Given the description of an element on the screen output the (x, y) to click on. 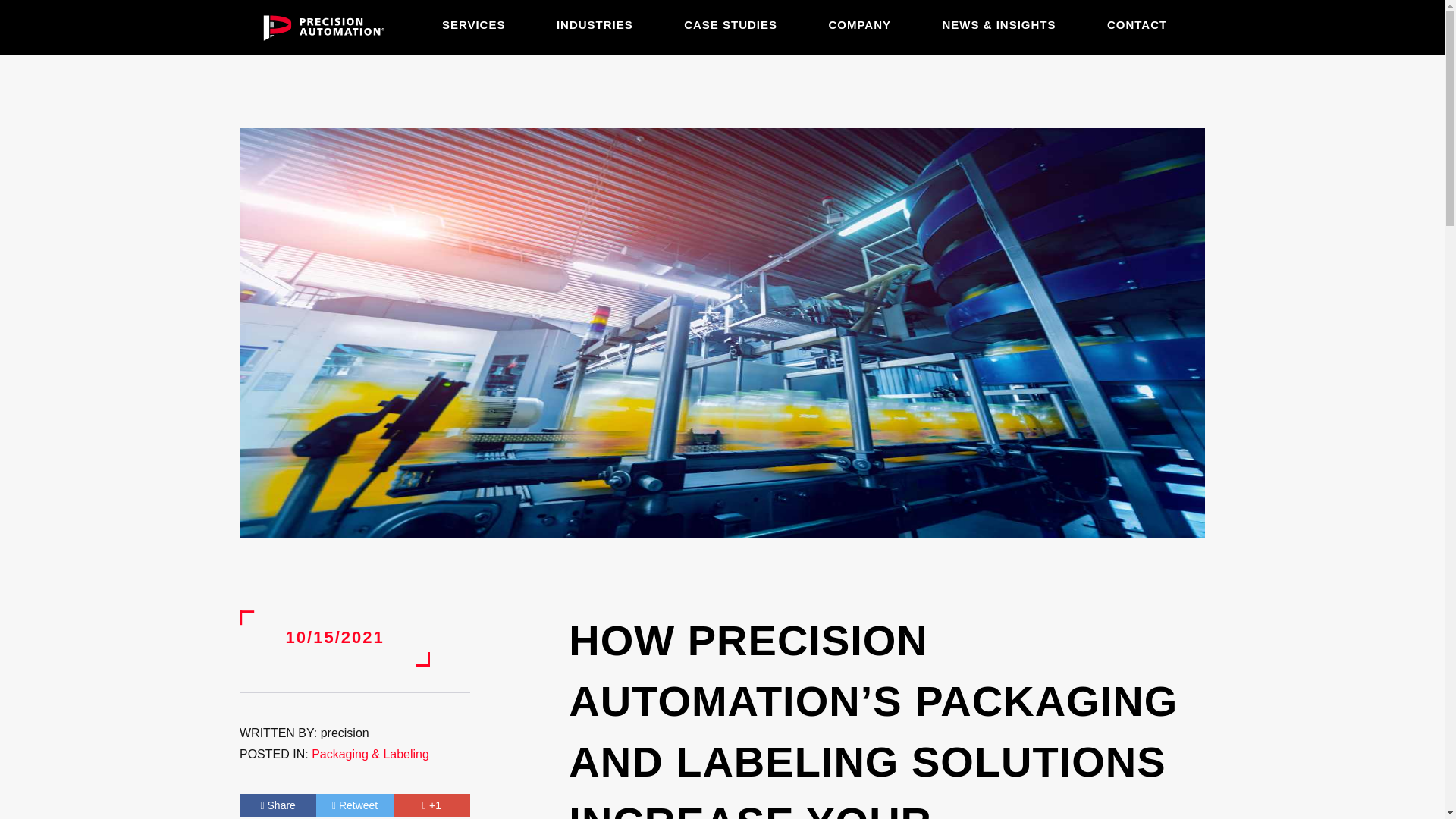
COMPANY (859, 24)
CONTACT (1136, 24)
CASE STUDIES (730, 24)
SERVICES (473, 24)
INDUSTRIES (594, 24)
